Given the description of an element on the screen output the (x, y) to click on. 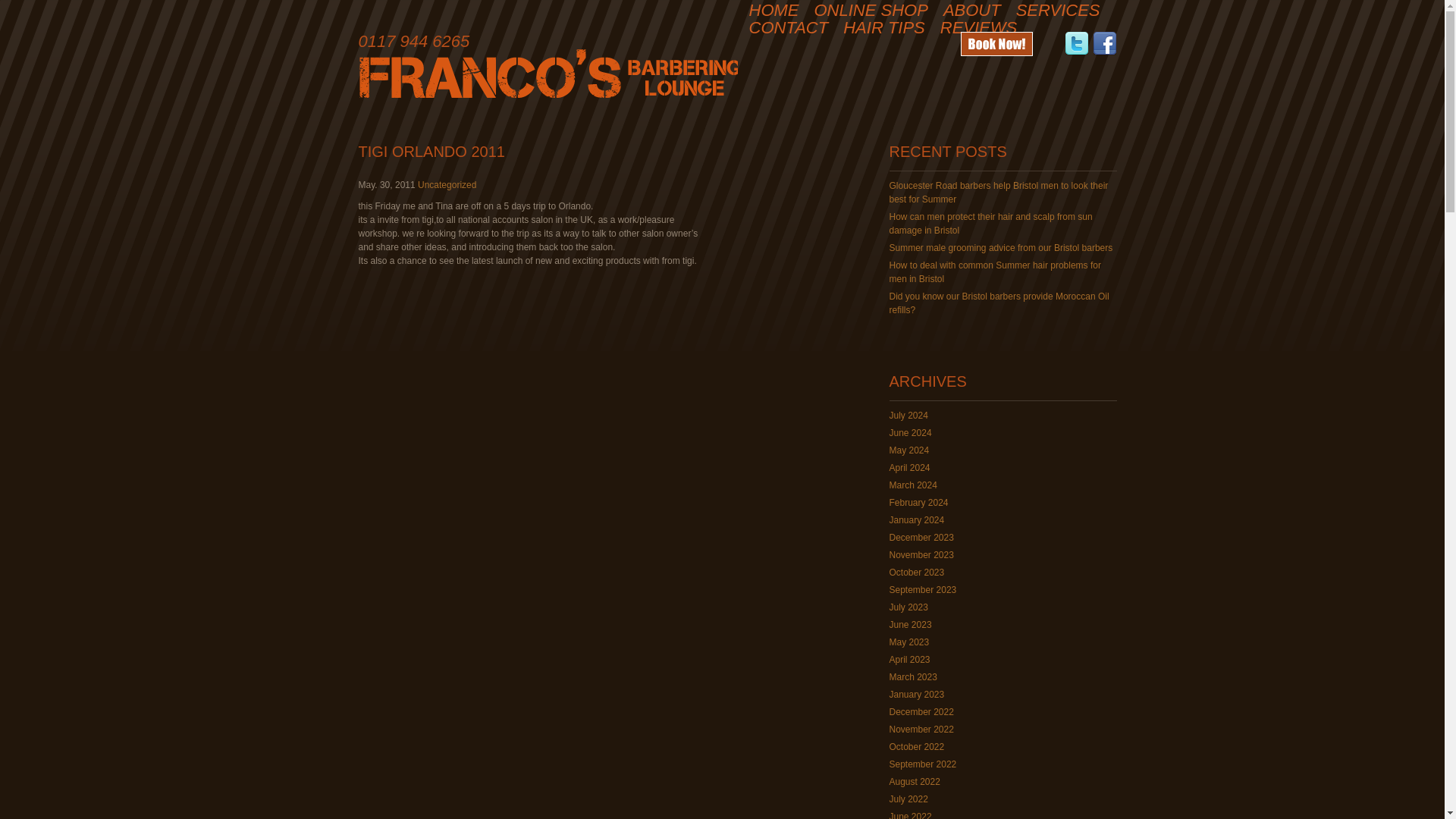
April 2024 (909, 467)
November 2023 (920, 554)
ABOUT (972, 10)
HOME (774, 10)
TIGI ORLANDO 2011 (430, 151)
July 2024 (907, 415)
REVIEWS (978, 28)
SERVICES (1058, 10)
February 2024 (917, 502)
June 2023 (909, 624)
December 2023 (920, 537)
May 2024 (908, 450)
